Given the description of an element on the screen output the (x, y) to click on. 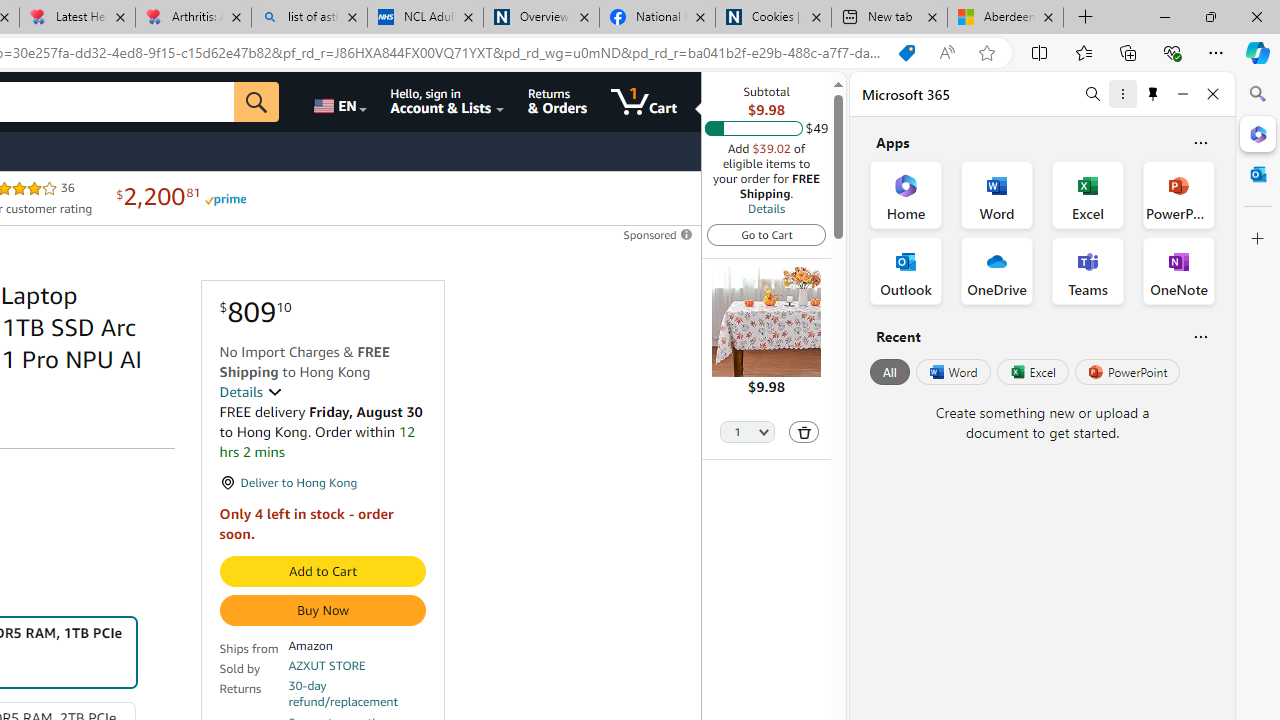
Excel (1031, 372)
Choose a language for shopping. (339, 101)
Word (952, 372)
OneNote Office App (1178, 270)
Details (765, 208)
